Given the description of an element on the screen output the (x, y) to click on. 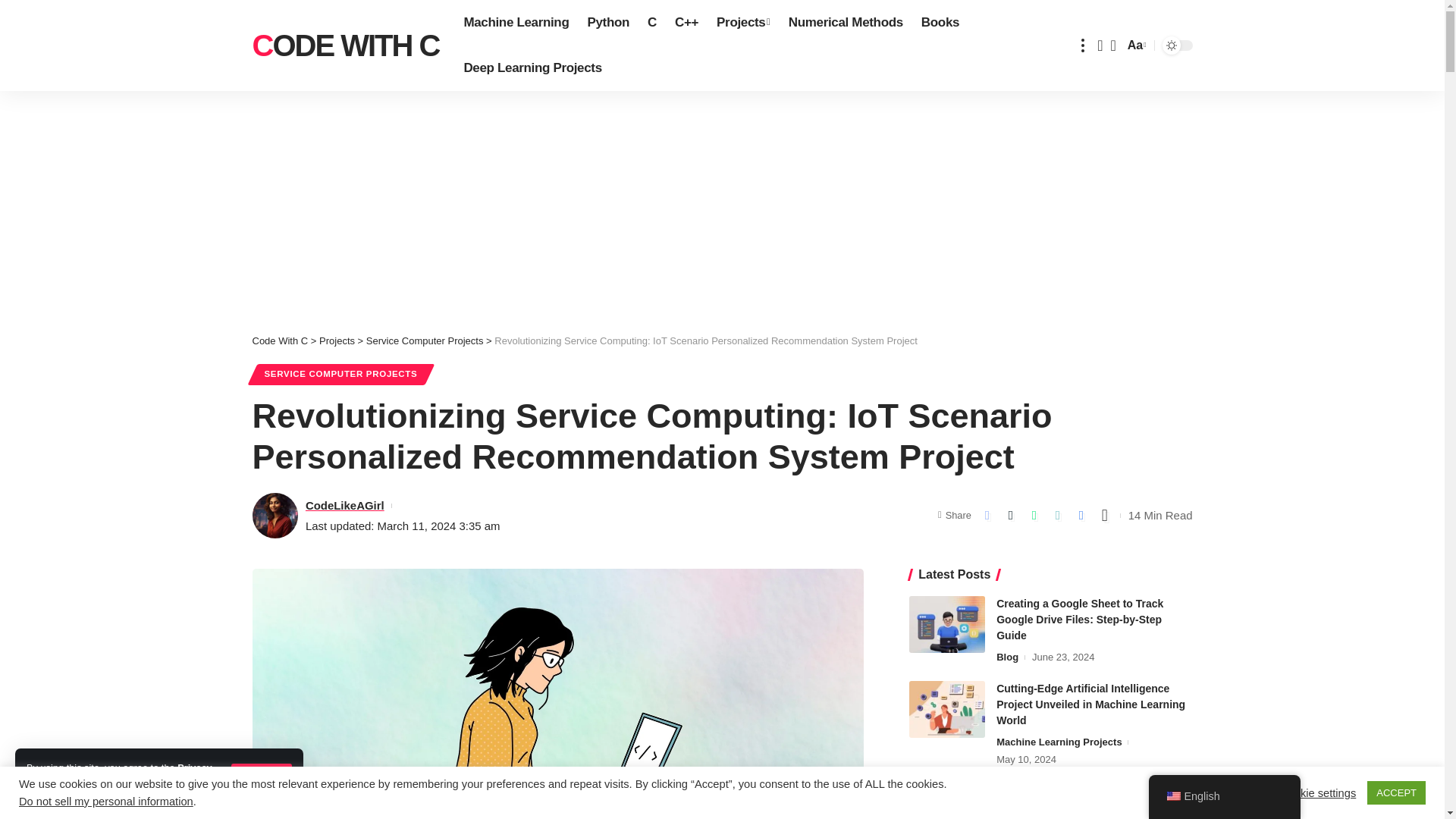
Deep Learning Projects (532, 67)
Books (940, 22)
CODE WITH C (345, 45)
Machine Learning (516, 22)
Go to Code With C. (279, 340)
Code With C (345, 45)
